Given the description of an element on the screen output the (x, y) to click on. 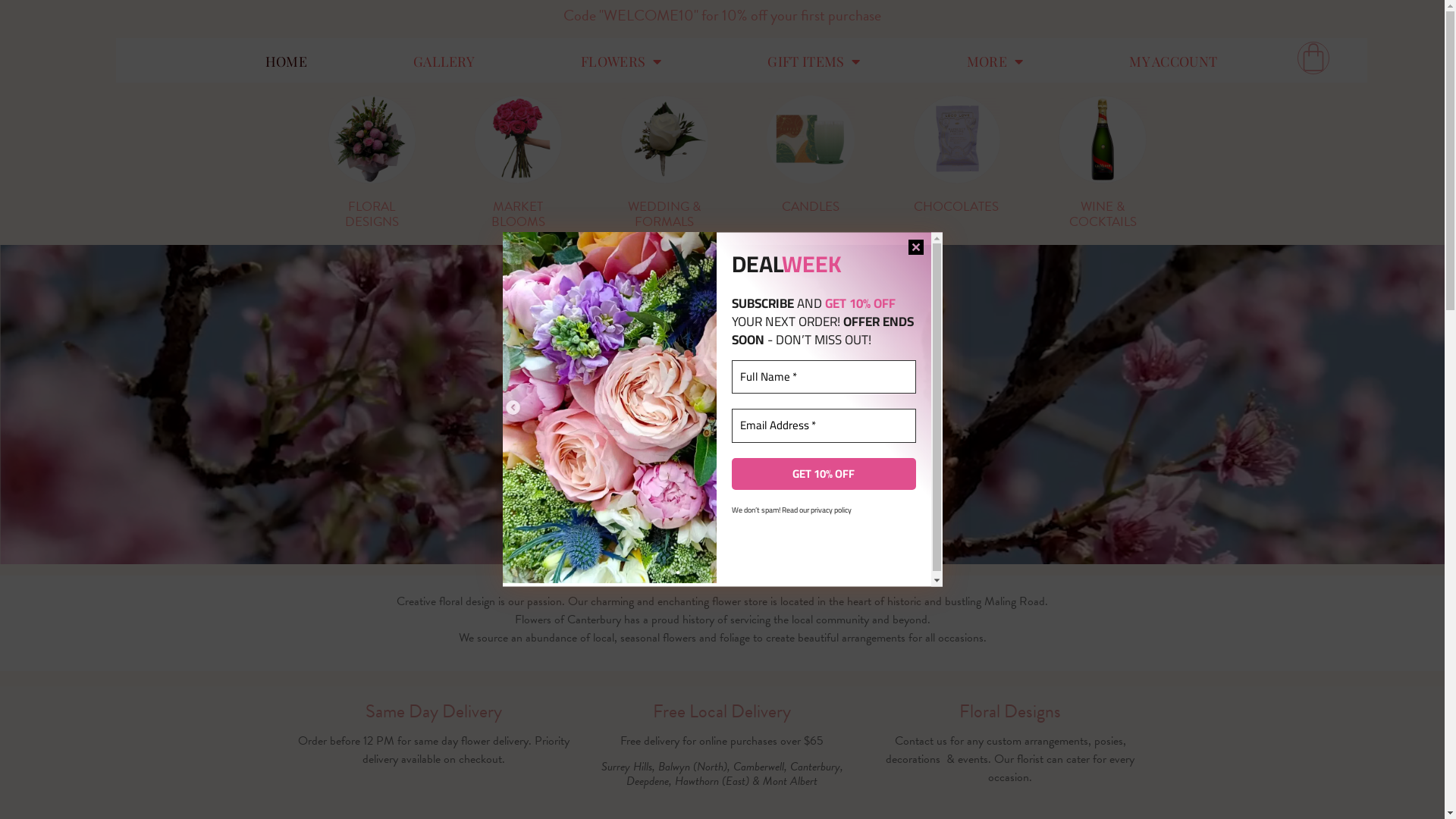
FLOWERS Element type: text (620, 60)
SHOP NOW Element type: text (722, 274)
MORE Element type: text (994, 60)
MARKET BLOOMS Element type: text (517, 162)
FLORAL DESIGNS Element type: text (371, 162)
GET 10% OFF Element type: text (823, 474)
Email Address Element type: hover (823, 426)
Full Name Element type: hover (823, 377)
HOME Element type: text (286, 60)
WEDDING & FORMALS Element type: text (664, 162)
GALLERY Element type: text (443, 60)
CANDLES Element type: text (810, 154)
GIFT ITEMS Element type: text (813, 60)
WINE & COCKTAILS Element type: text (1102, 162)
MY ACCOUNT Element type: text (1172, 60)
CHOCOLATES Element type: text (957, 154)
